Given the description of an element on the screen output the (x, y) to click on. 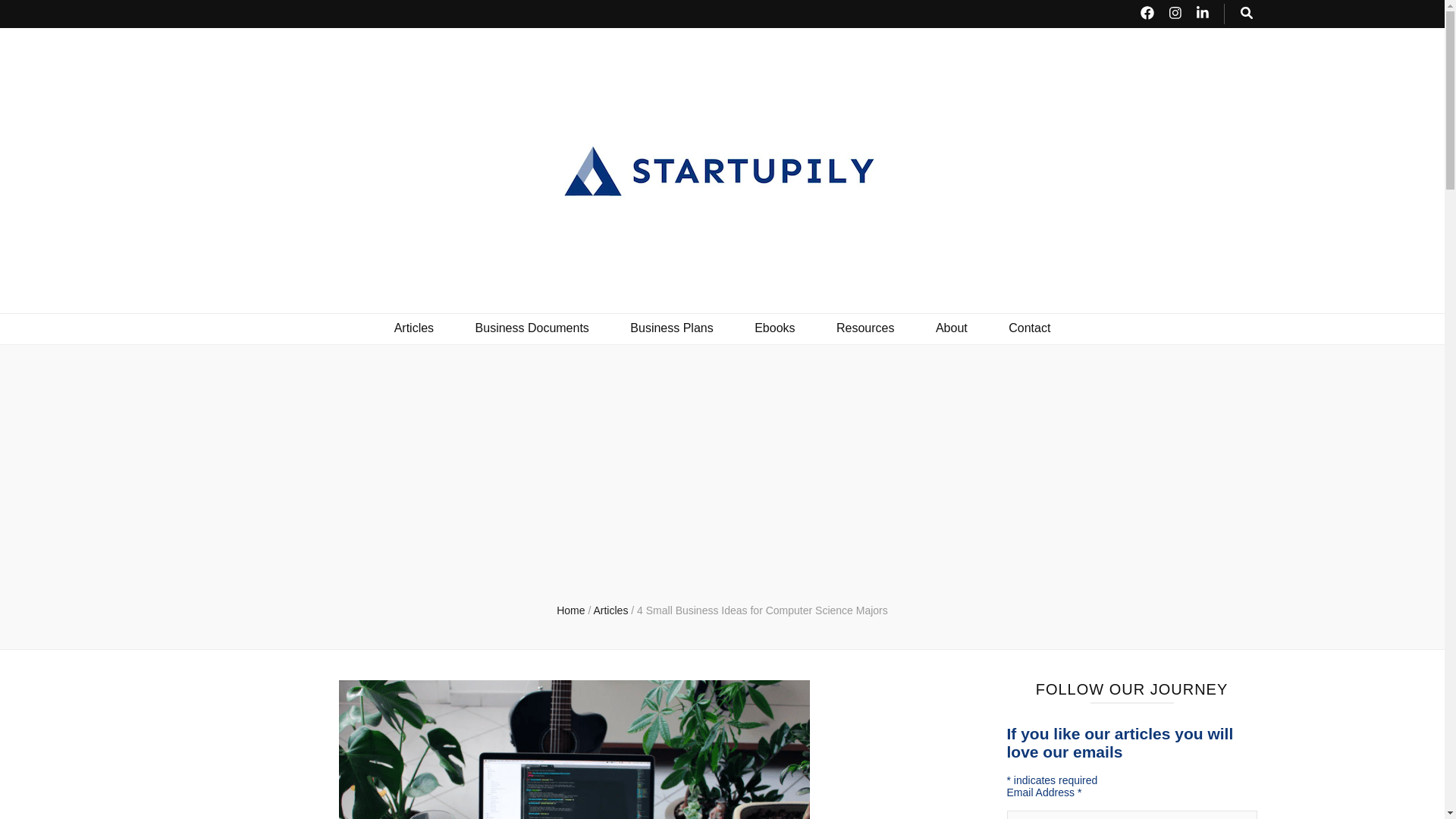
Articles (611, 610)
Articles (413, 328)
Resources (864, 328)
Home (570, 610)
Business Plans (671, 328)
Startupily (279, 295)
Contact (1029, 328)
About (952, 328)
Ebooks (774, 328)
